Given the description of an element on the screen output the (x, y) to click on. 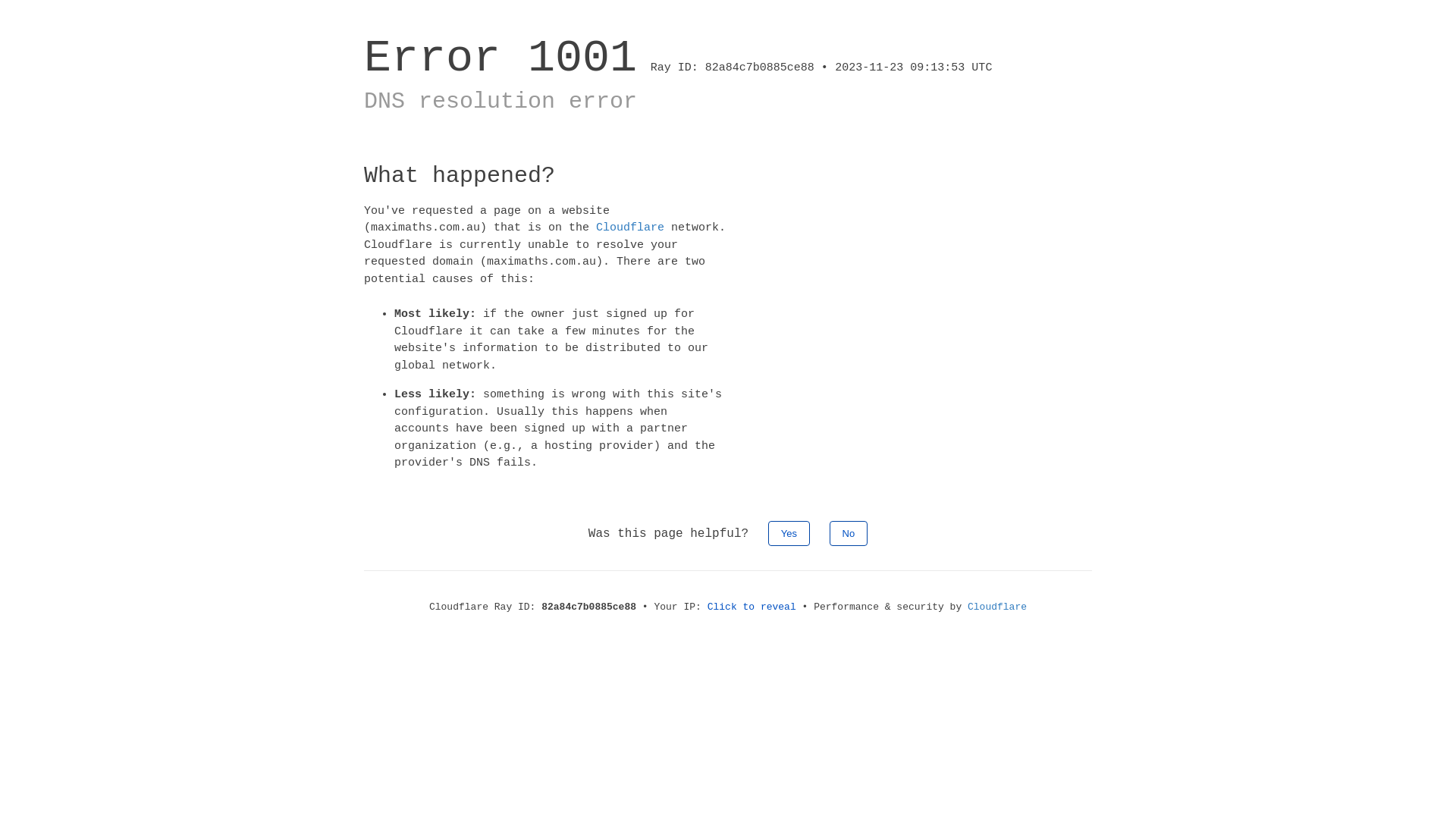
No Element type: text (848, 532)
Cloudflare Element type: text (996, 605)
Yes Element type: text (788, 532)
Click to reveal Element type: text (751, 605)
Cloudflare Element type: text (630, 227)
